Given the description of an element on the screen output the (x, y) to click on. 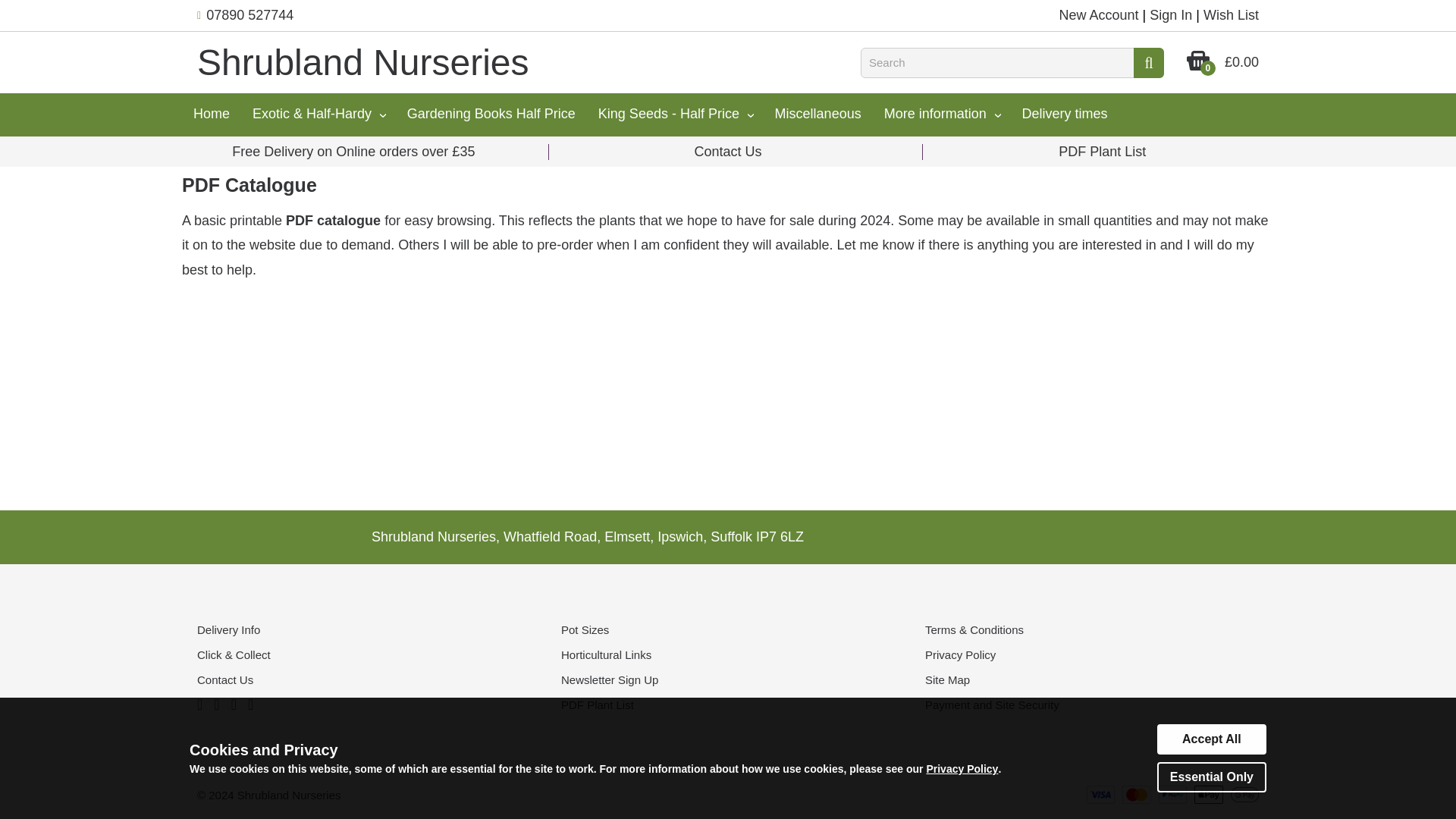
Wish List (1231, 15)
Contact Us (727, 151)
0 (1197, 67)
Delivery times (1064, 114)
New Account (1098, 15)
Go (1148, 61)
Miscellaneous (817, 114)
Home (211, 114)
More information (941, 114)
Gardening Books Half Price (491, 114)
07890 527744 (250, 14)
King Seeds - Half Price (674, 114)
Sign In (1171, 15)
